Given the description of an element on the screen output the (x, y) to click on. 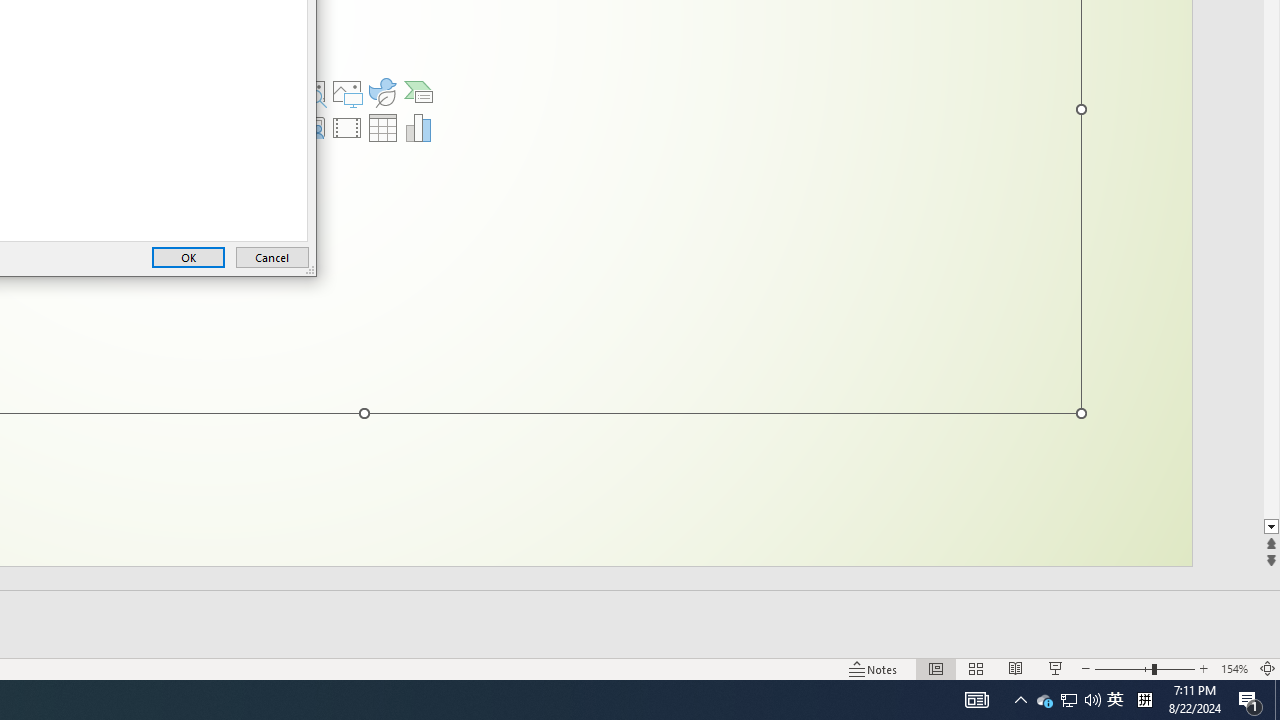
Zoom 154% (1234, 668)
OK (188, 257)
